Given the description of an element on the screen output the (x, y) to click on. 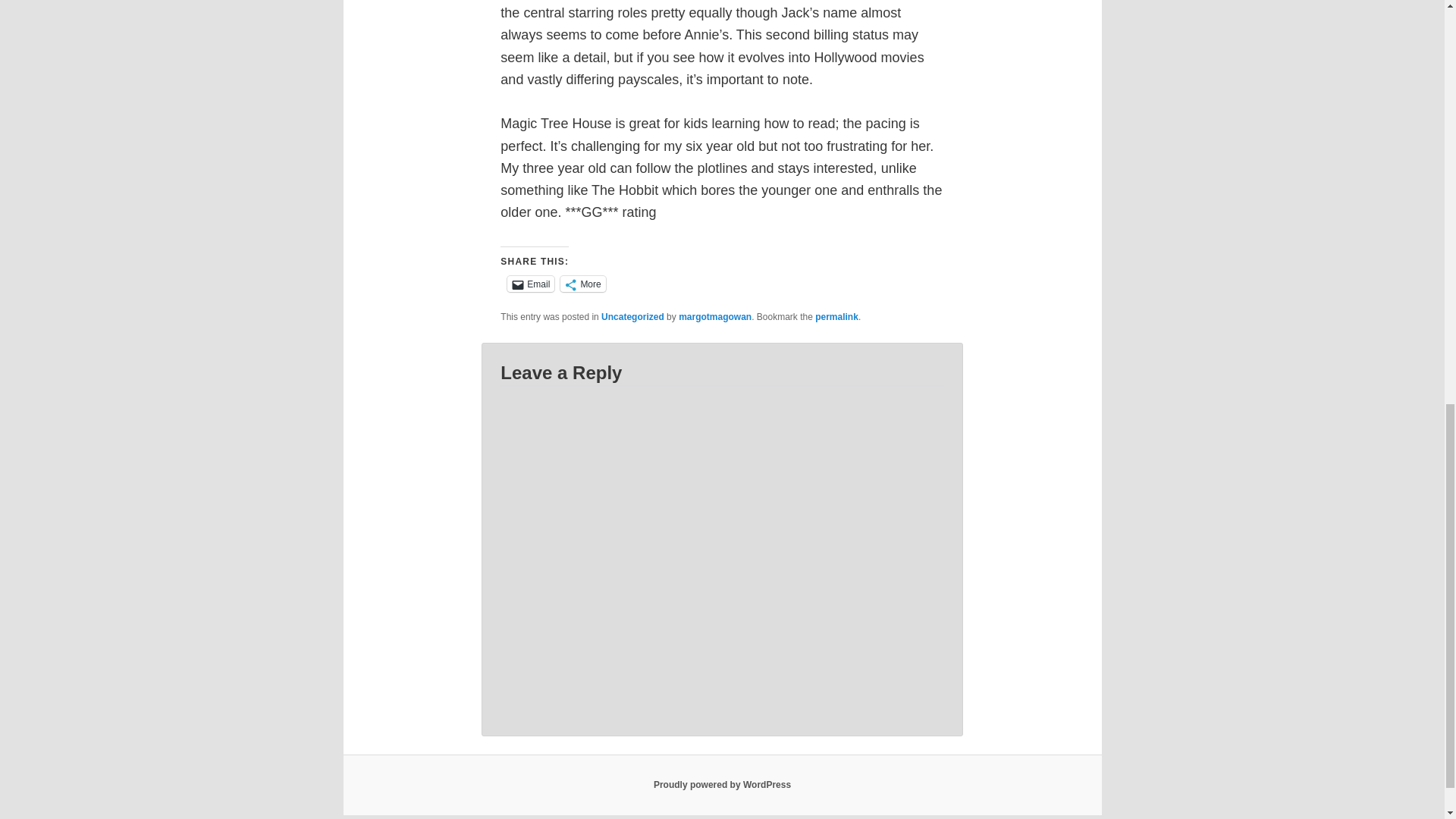
margotmagowan (714, 317)
Proudly powered by WordPress (721, 784)
Uncategorized (632, 317)
Semantic Personal Publishing Platform (721, 784)
Email (530, 283)
permalink (837, 317)
More (582, 283)
Click to email a link to a friend (530, 283)
Permalink to Magic Tree House (837, 317)
